Given the description of an element on the screen output the (x, y) to click on. 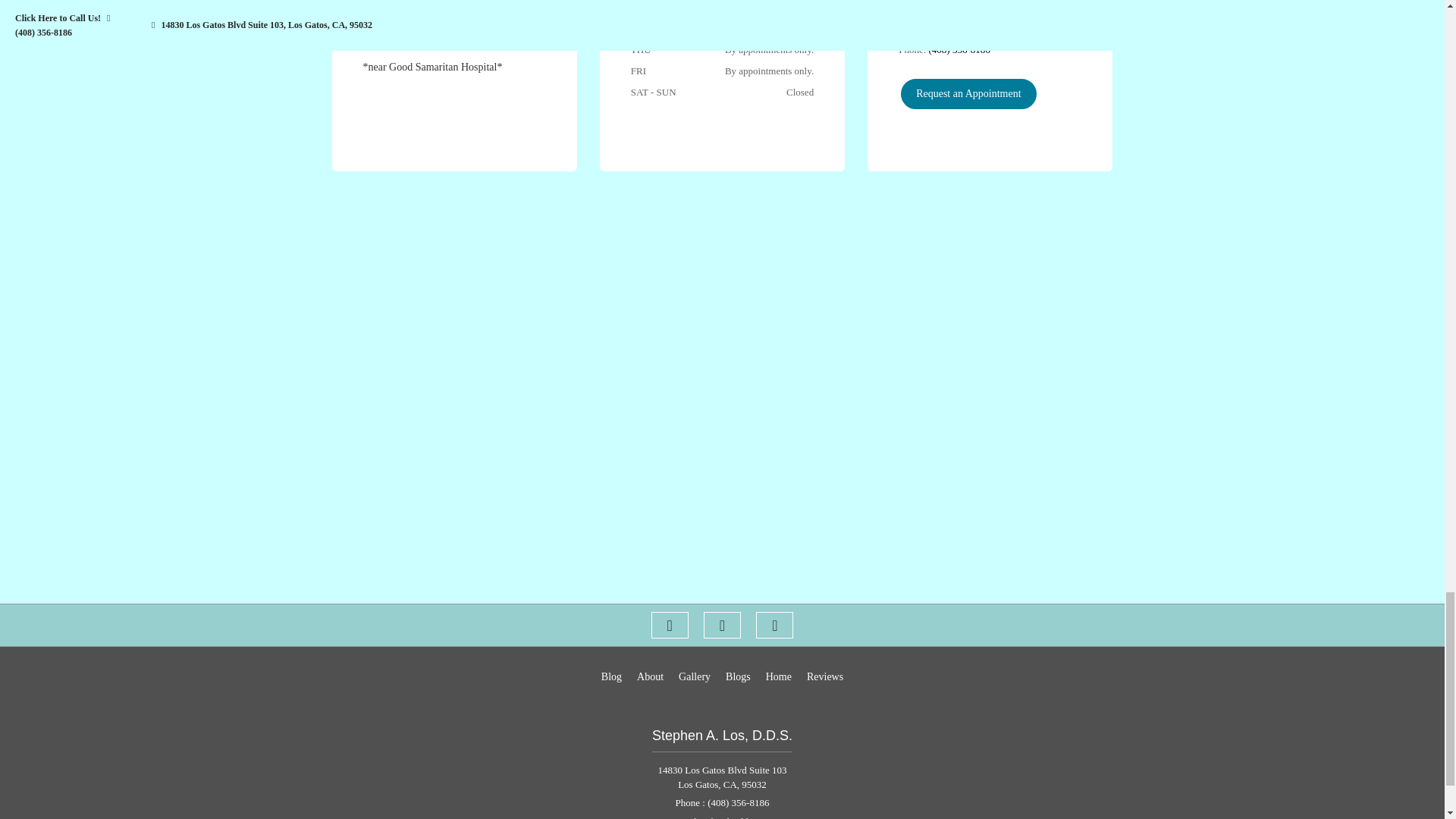
Gallery (694, 676)
Reviews (824, 676)
About (650, 676)
Blog (611, 676)
Blogs (738, 676)
Home (778, 676)
